Given the description of an element on the screen output the (x, y) to click on. 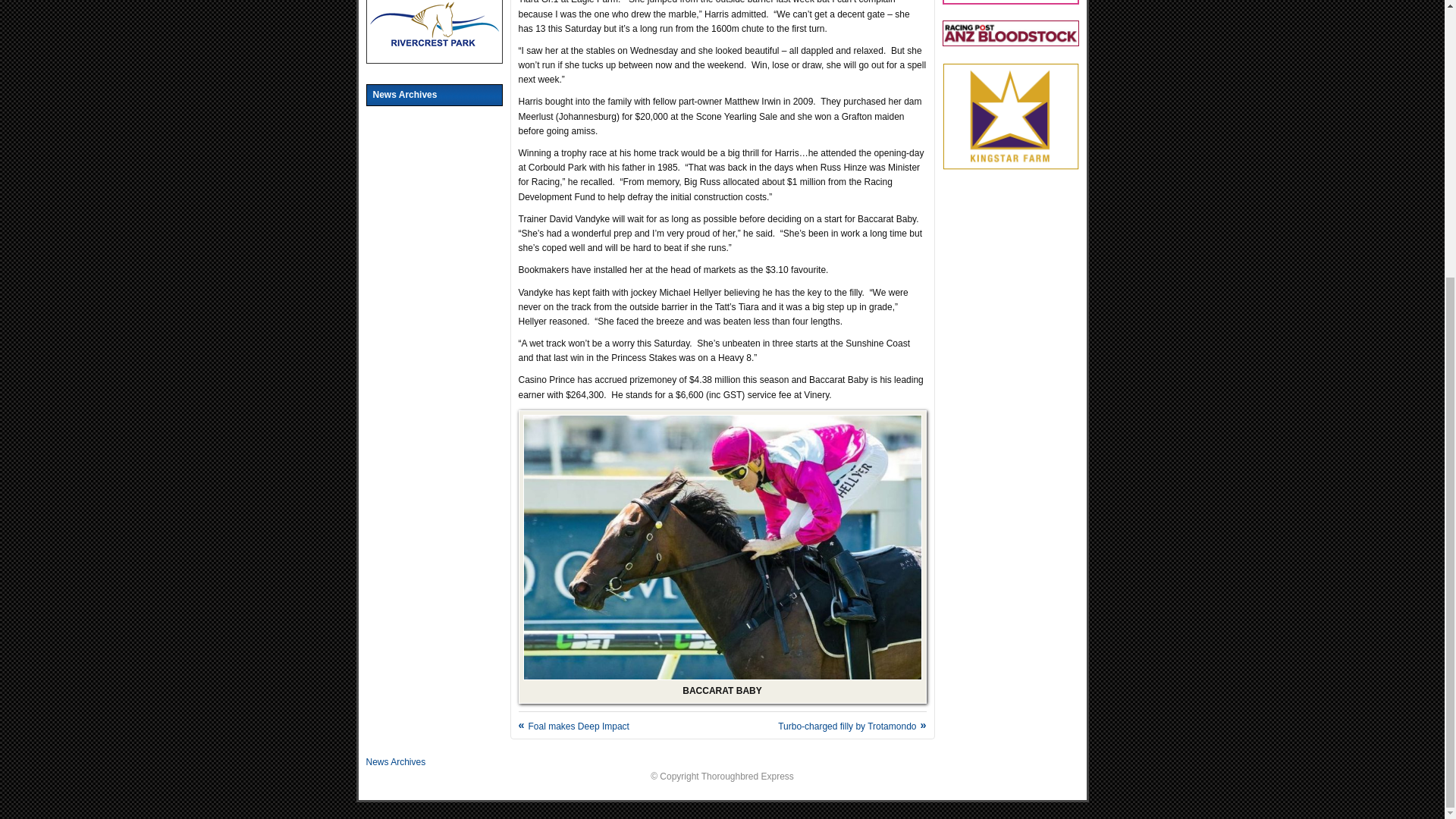
News Archives (395, 761)
News Archives (433, 95)
